Given the description of an element on the screen output the (x, y) to click on. 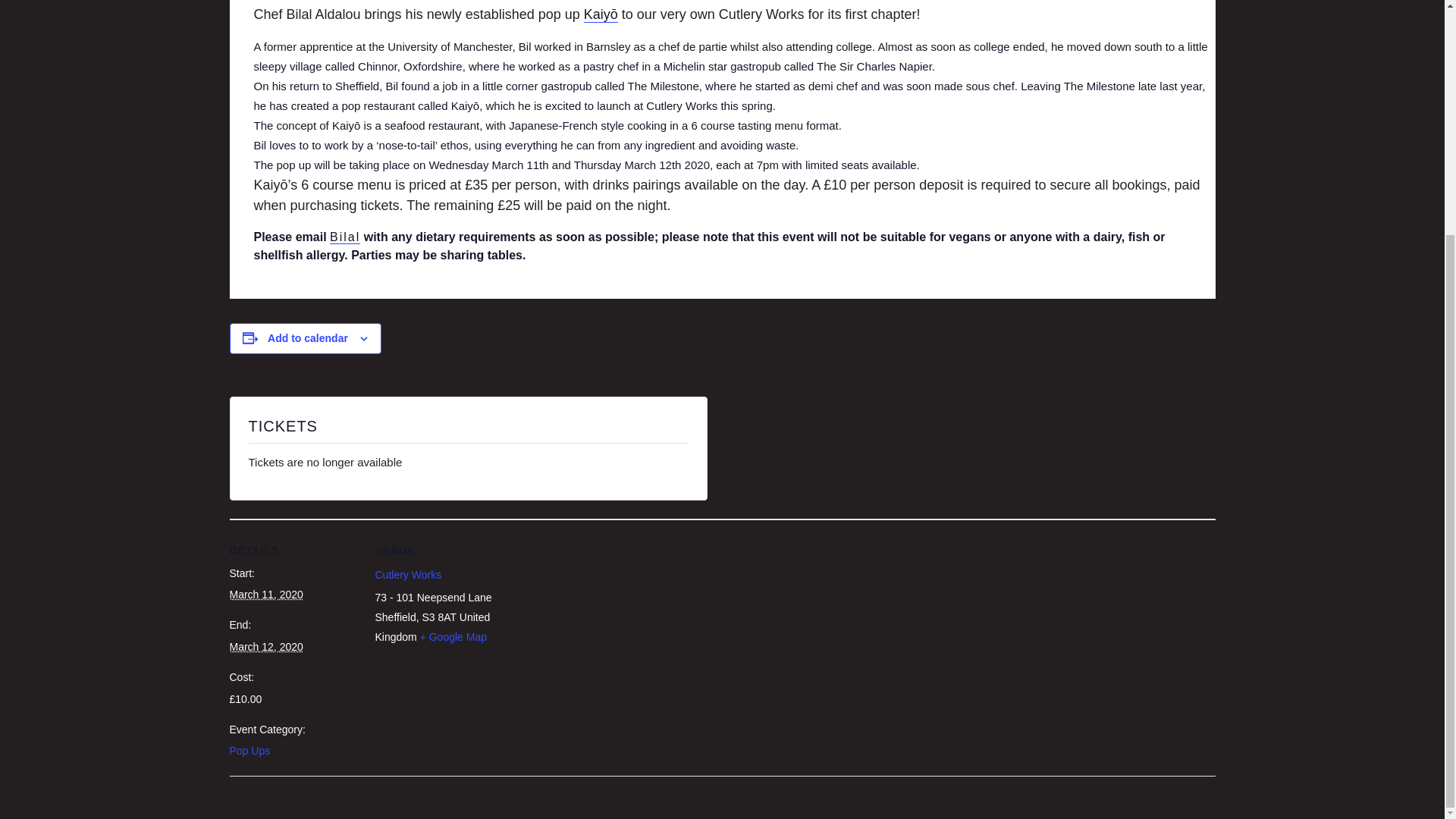
CUTLERYWORKS (350, 87)
Google maps iframe displaying the address to Cutlery Works (599, 624)
Cutlery Works (407, 574)
Bilal (344, 237)
Pop Ups (248, 750)
2020-03-12 (265, 646)
Click to view a Google Map (453, 636)
forms-page (1099, 294)
2020-03-11 (265, 594)
Proudly in Support of (1099, 141)
